Given the description of an element on the screen output the (x, y) to click on. 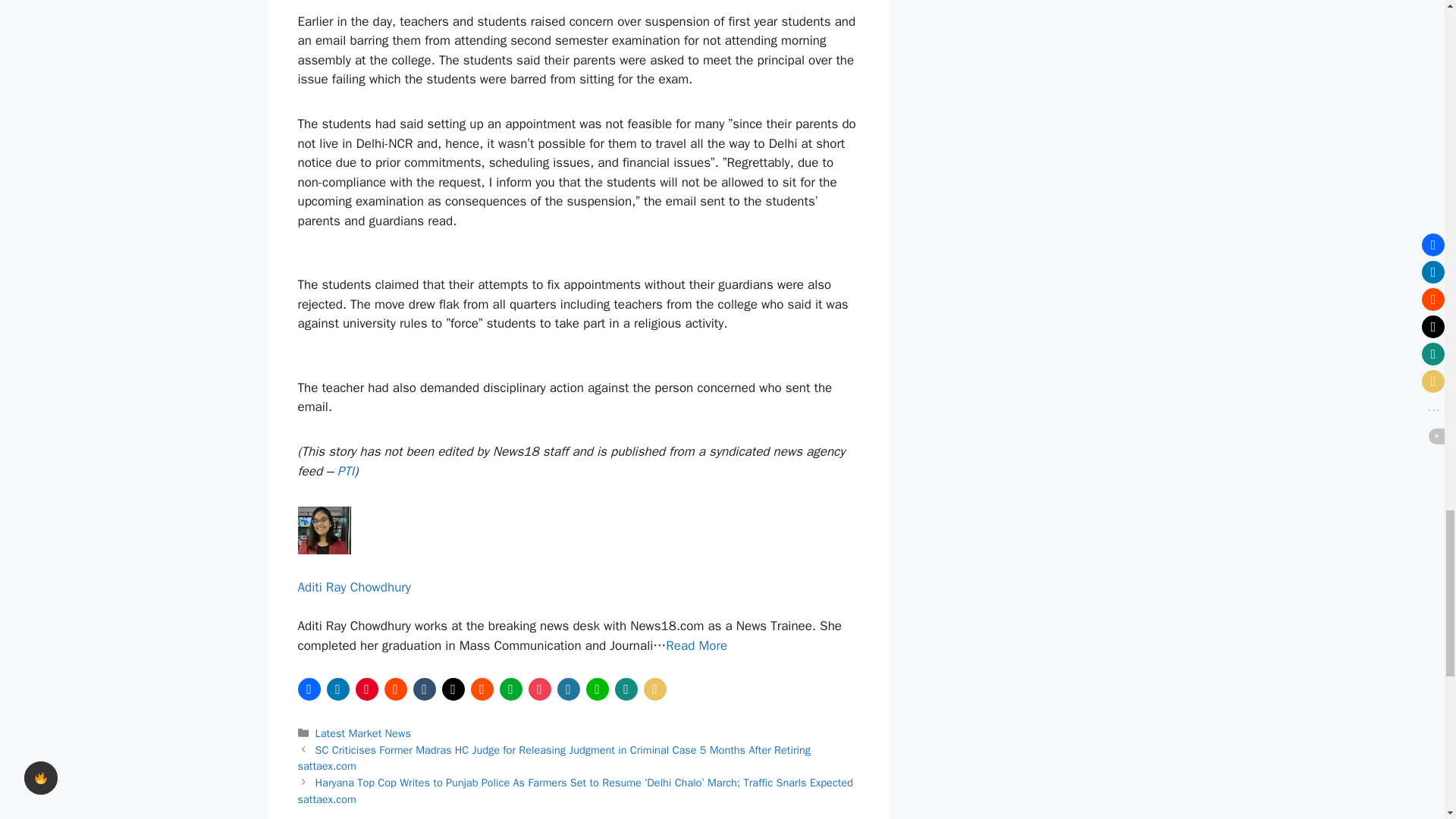
Aditi Ray Chowdhury (353, 587)
Latest Market News (362, 733)
Read More (695, 645)
PTI (345, 471)
